Given the description of an element on the screen output the (x, y) to click on. 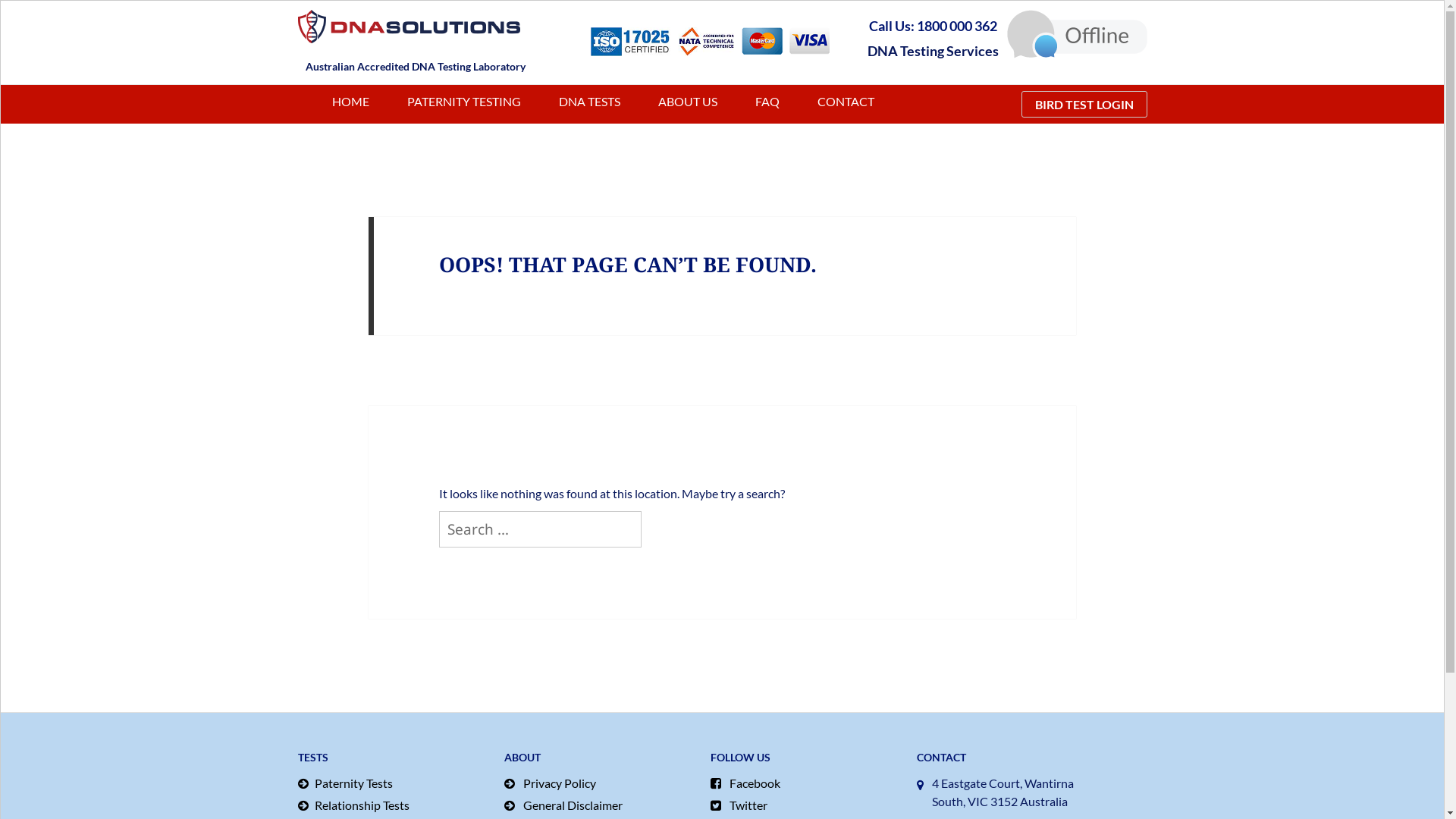
Twitter Element type: text (804, 805)
ABOUT US Element type: text (687, 101)
Facebook Element type: text (804, 783)
BIRD TEST LOGIN Element type: text (1083, 104)
BIRD TEST LOGIN Element type: text (1076, 104)
Paternity Tests Element type: text (392, 783)
FAQ Element type: text (767, 101)
Call Us: 1800 000 362 Element type: text (933, 25)
Privacy Policy Element type: text (598, 783)
General Disclaimer Element type: text (598, 805)
HOME Element type: text (350, 101)
Relationship Tests Element type: text (392, 805)
PATERNITY TESTING Element type: text (463, 101)
Search Element type: text (641, 510)
CONTACT Element type: text (845, 101)
DNA TESTS Element type: text (588, 101)
